Given the description of an element on the screen output the (x, y) to click on. 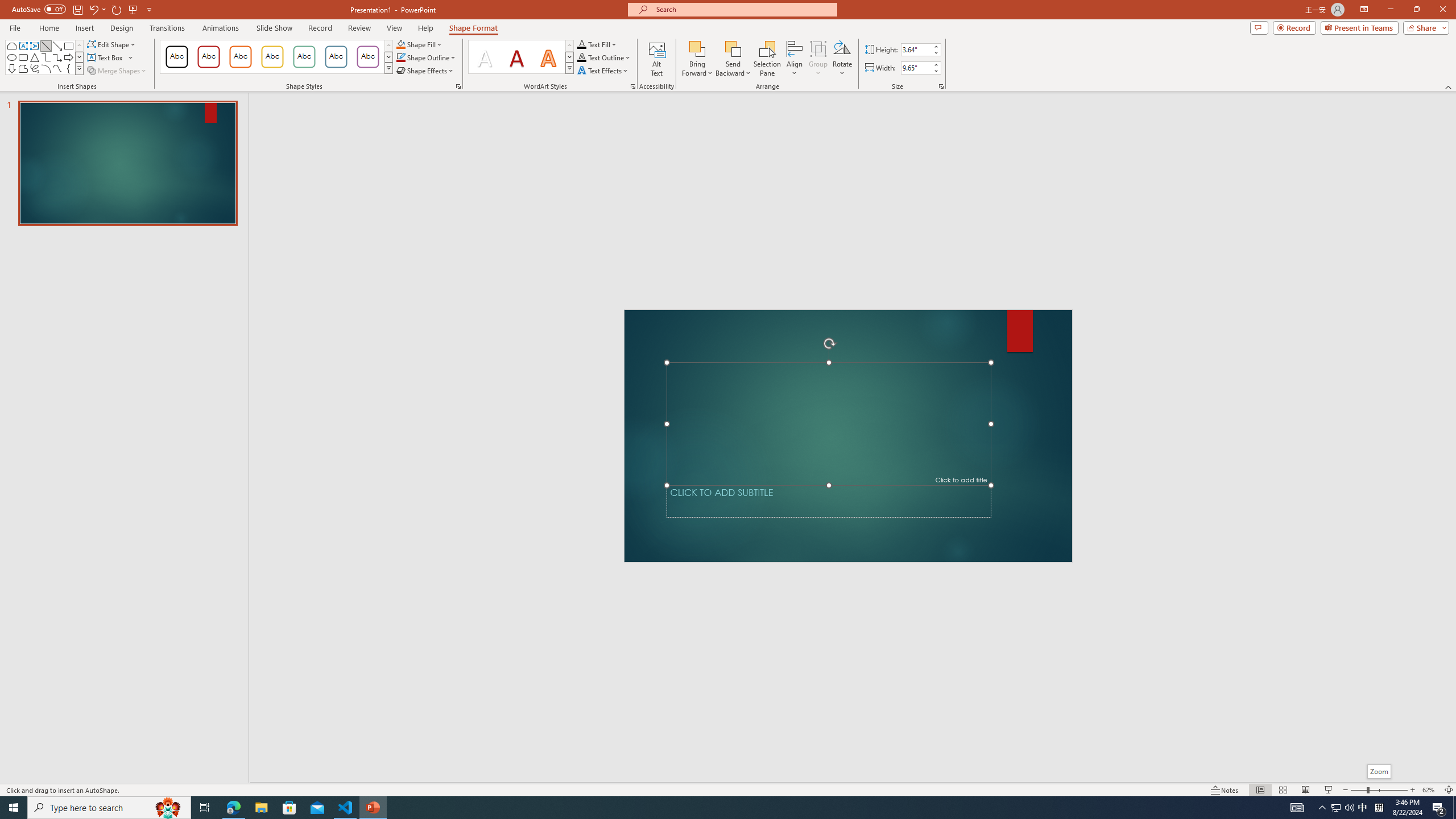
Shapes (78, 68)
Send Backward (733, 58)
Left Brace (68, 68)
Text Box (23, 45)
Colored Outline - Purple, Accent 6 (368, 56)
Selection Pane... (767, 58)
Colored Outline - Dark Red, Accent 1 (208, 56)
Freeform: Scribble (34, 68)
Bring Forward (697, 48)
